Given the description of an element on the screen output the (x, y) to click on. 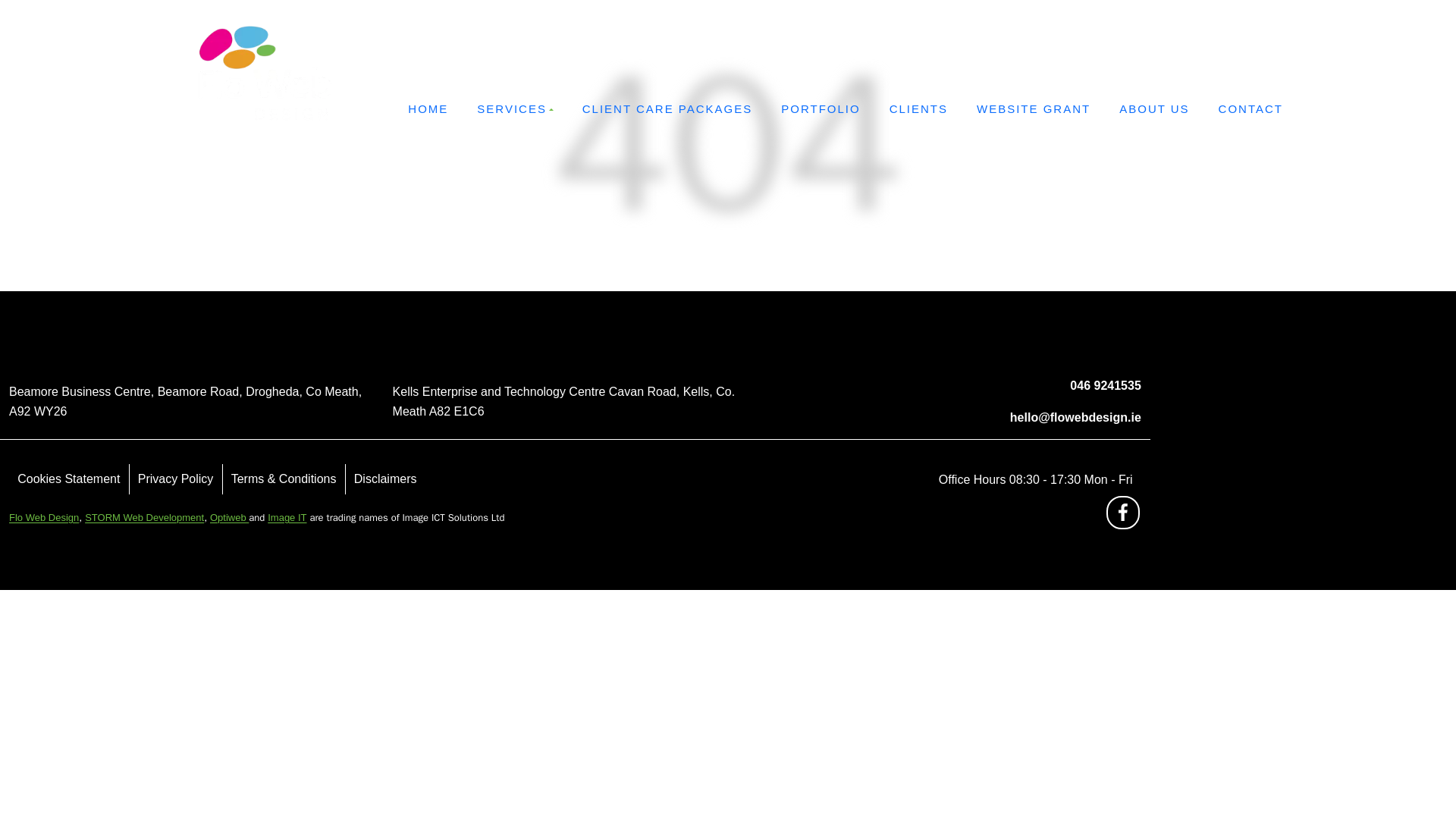
CLIENTS (918, 109)
HOME (427, 109)
SERVICES (515, 109)
ABOUT US (1154, 109)
PORTFOLIO (820, 109)
CLIENT CARE PACKAGES (667, 109)
WEBSITE GRANT (1033, 109)
046 9241535 (1199, 49)
CONTACT (1250, 109)
